Given the description of an element on the screen output the (x, y) to click on. 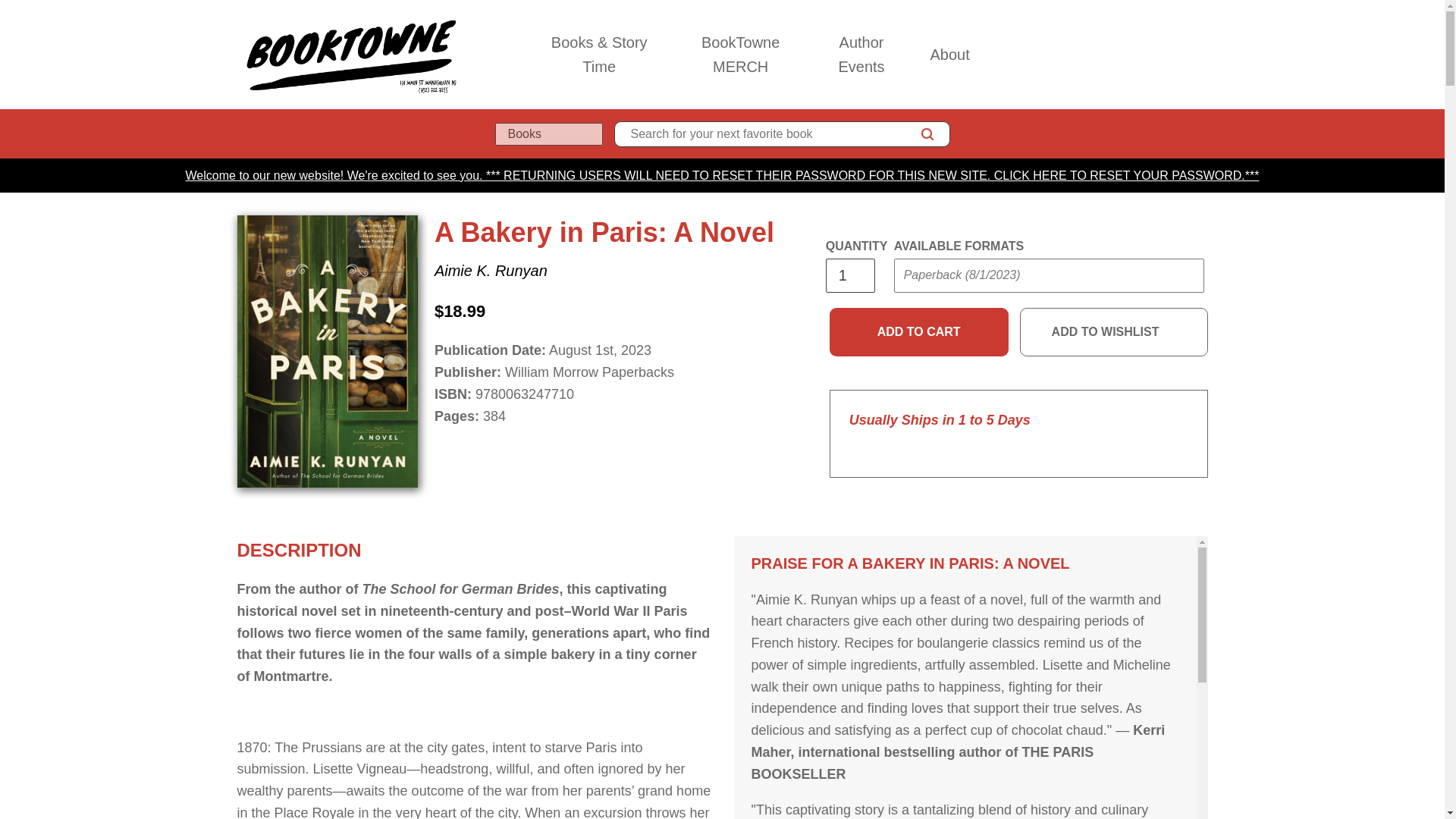
Aimie K. Runyan (490, 270)
Add to cart (919, 331)
ADD TO WISHLIST (1114, 331)
Cart (1201, 54)
Cart (1201, 54)
Author Events (861, 54)
SEARCH (926, 134)
Log in (1134, 54)
BookTowne MERCH (740, 54)
